Given the description of an element on the screen output the (x, y) to click on. 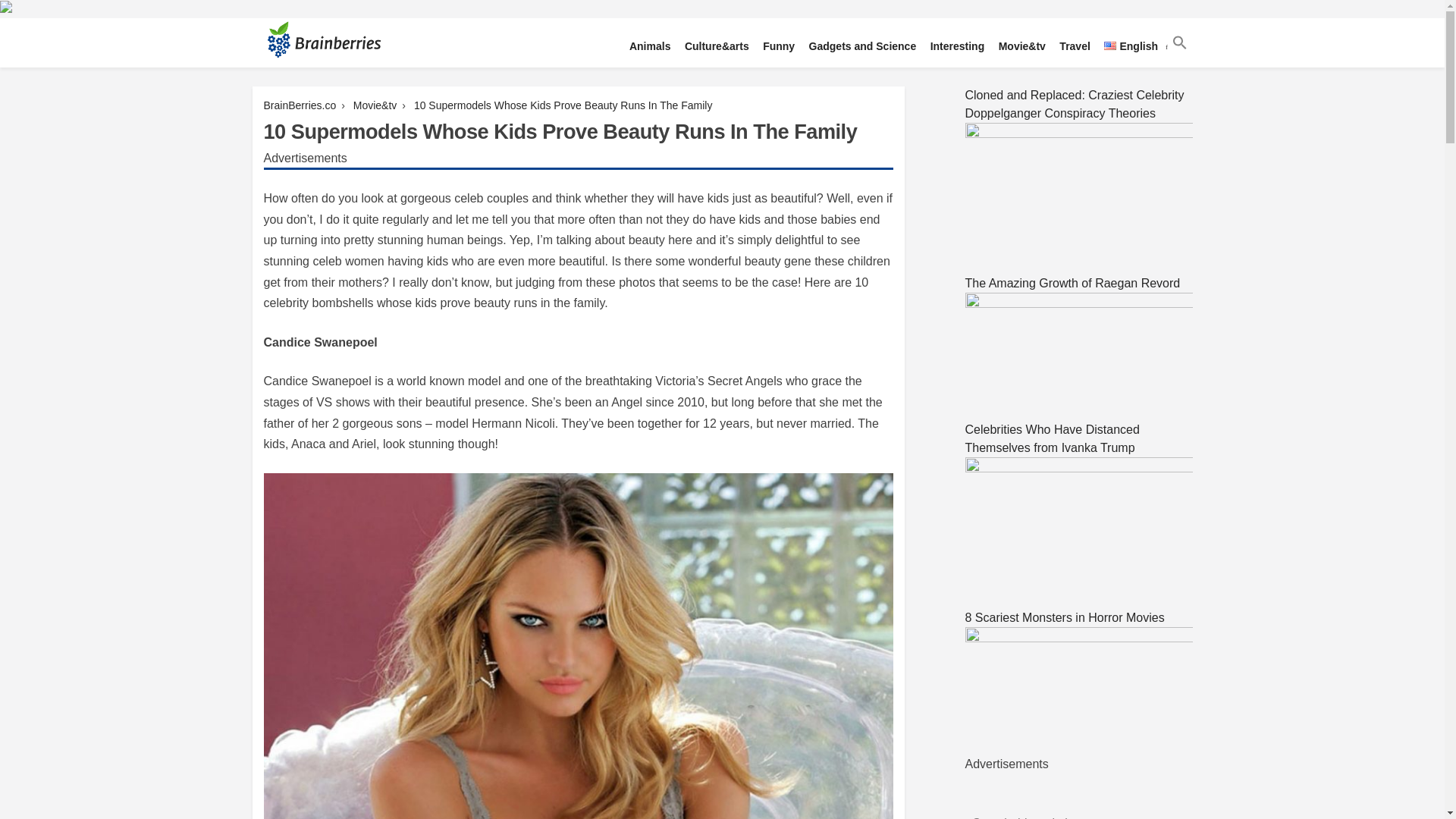
10 Supermodels Whose Kids Prove Beauty Runs In The Family (562, 105)
Gadgets and Science (862, 47)
Animals (649, 47)
Brain Berries (301, 85)
English (1131, 47)
Interesting (957, 47)
BrainBerries.co (299, 105)
